Given the description of an element on the screen output the (x, y) to click on. 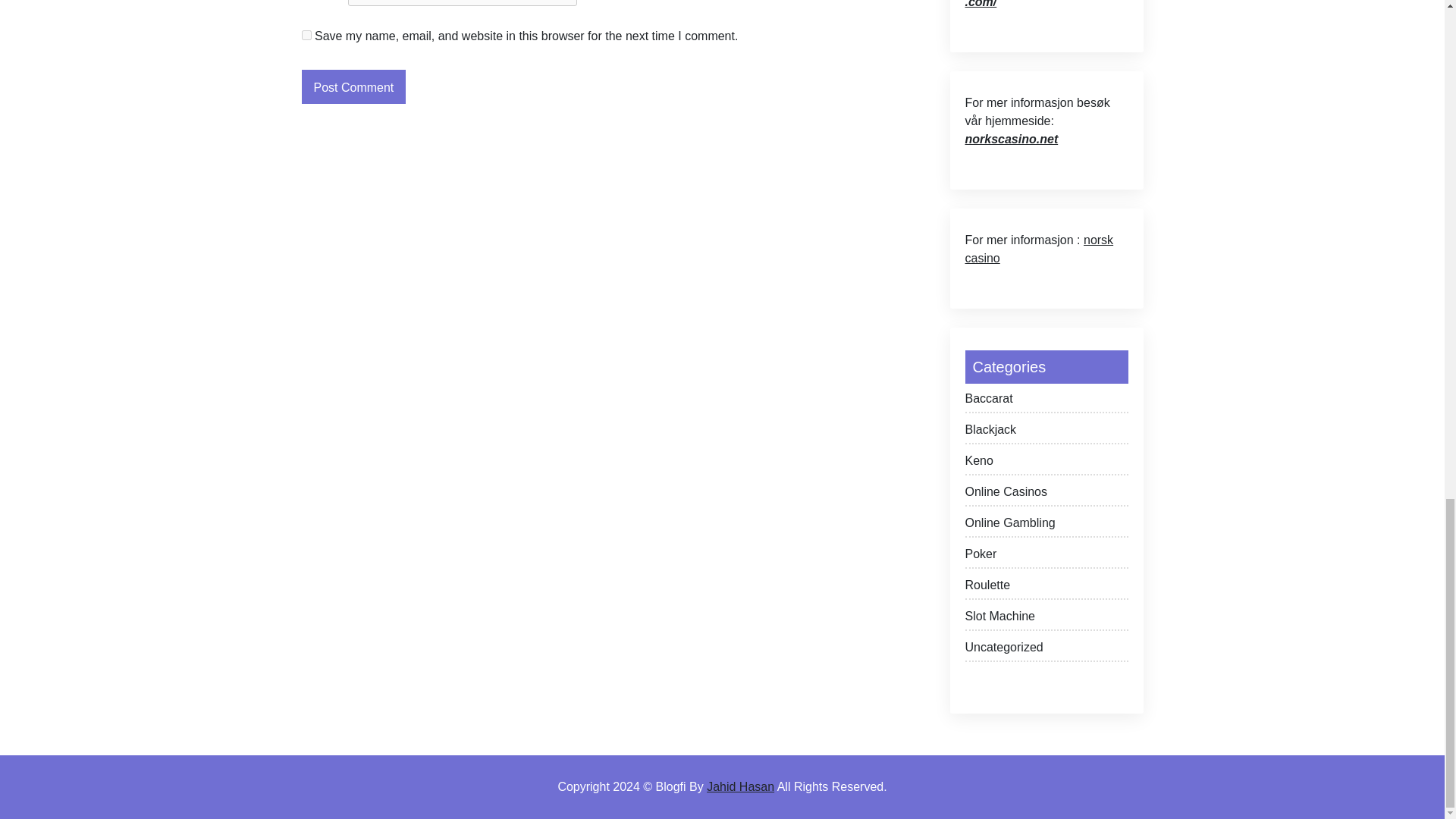
Keno (1044, 463)
Poker (1044, 556)
yes (306, 35)
norkscasino.net (1010, 138)
Jahid Hasan (740, 786)
Slot Machine (1044, 618)
Post Comment (353, 86)
Post Comment (353, 86)
Blackjack (1044, 432)
Online Gambling (1044, 525)
norsk casino (1038, 248)
Roulette (1044, 587)
Baccarat (1044, 401)
Uncategorized (1044, 649)
Online Casinos (1044, 494)
